Given the description of an element on the screen output the (x, y) to click on. 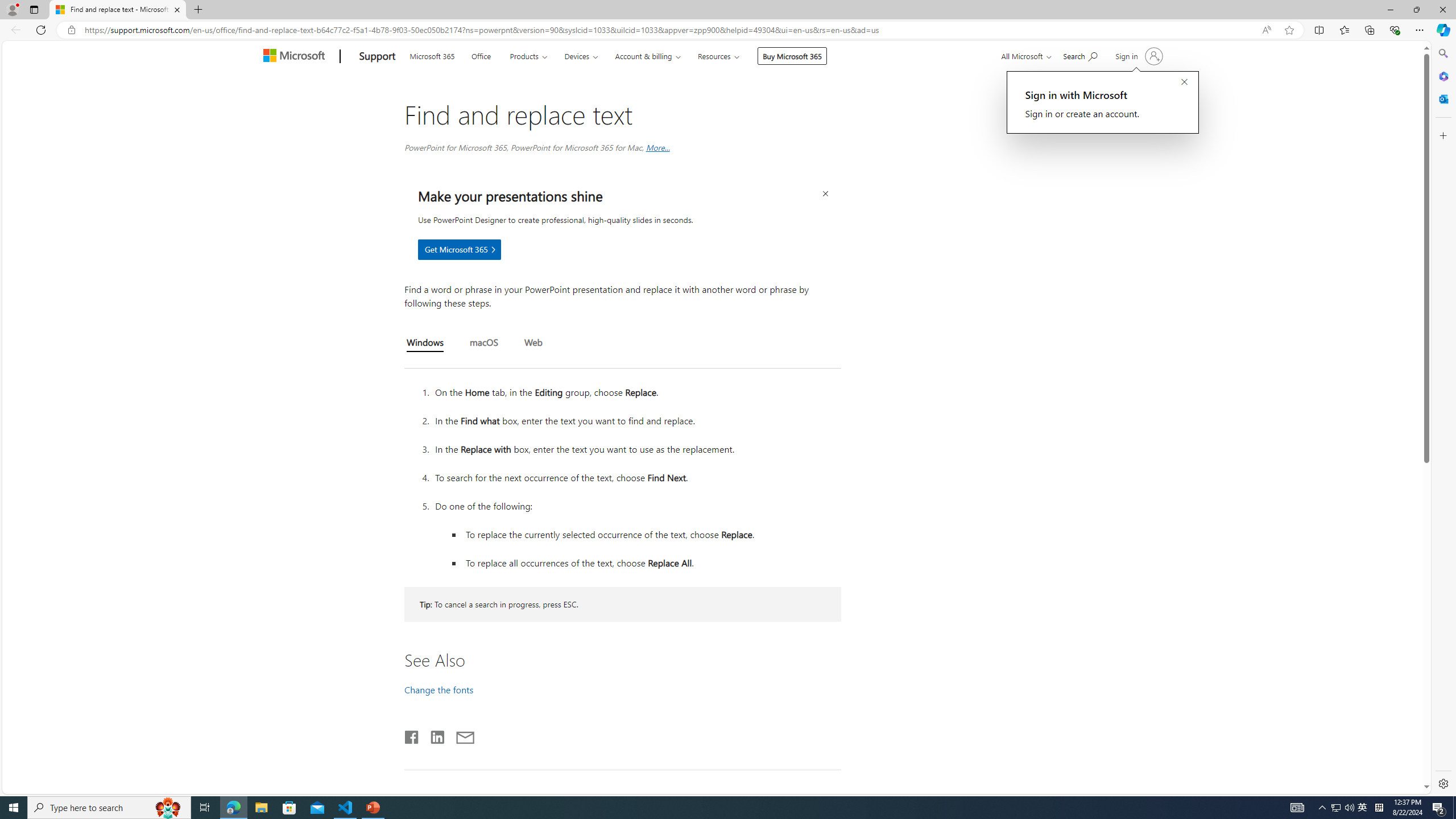
Favorites (1344, 29)
Collections (1369, 29)
Settings and more (Alt+F) (1419, 29)
Support (377, 56)
Office (480, 54)
Customize (1442, 135)
Microsoft 365 (1442, 76)
App bar (728, 29)
Restore (1416, 9)
Close tab (176, 9)
Change the fonts (438, 689)
